Given the description of an element on the screen output the (x, y) to click on. 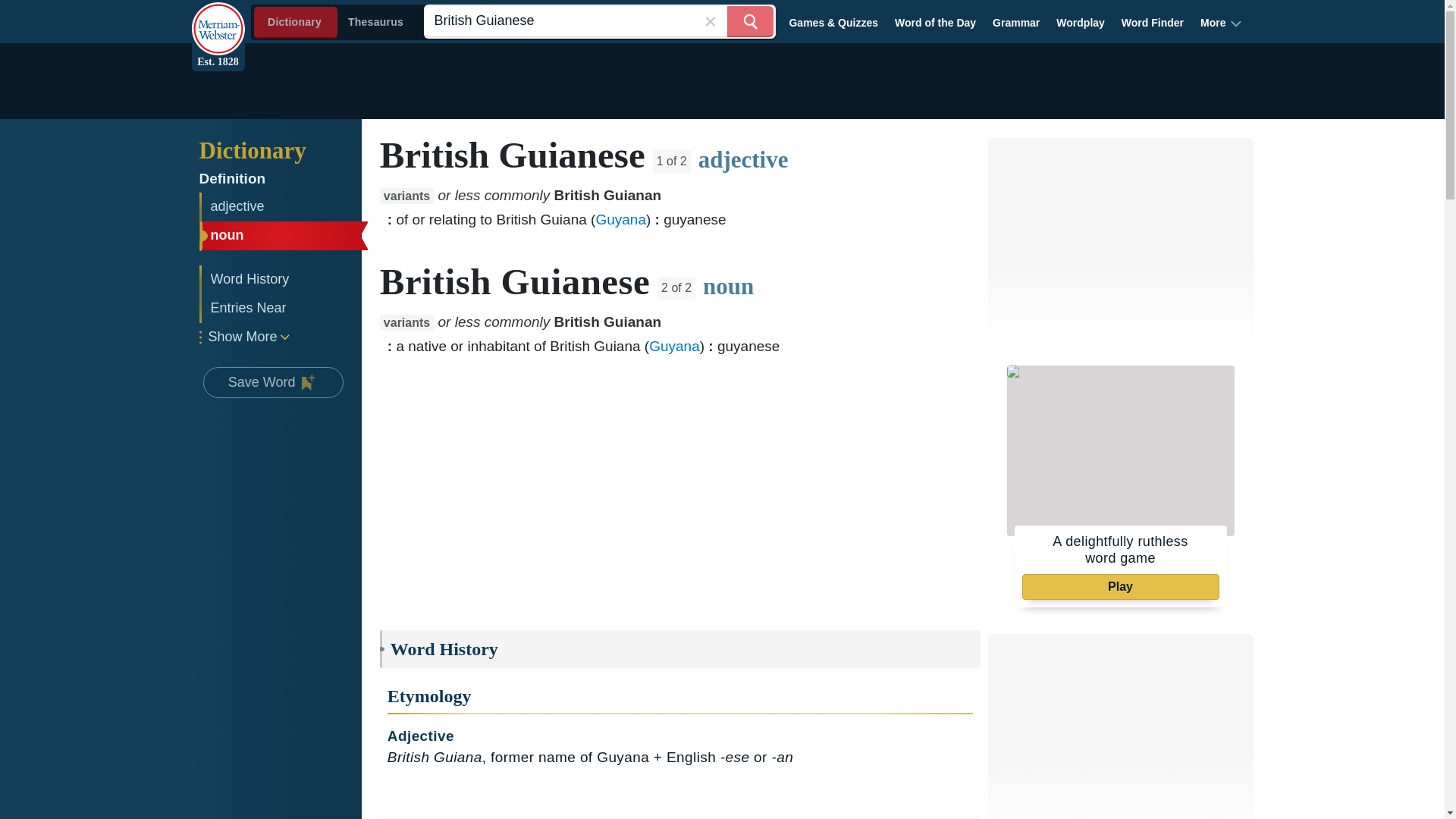
British Guianese (599, 20)
Search (749, 20)
British Guianese (599, 20)
Grammar (1015, 22)
Entries Near (280, 308)
More (1220, 22)
Word of the Day (935, 22)
noun (280, 235)
Word Finder (1153, 22)
adjective (280, 206)
